Given the description of an element on the screen output the (x, y) to click on. 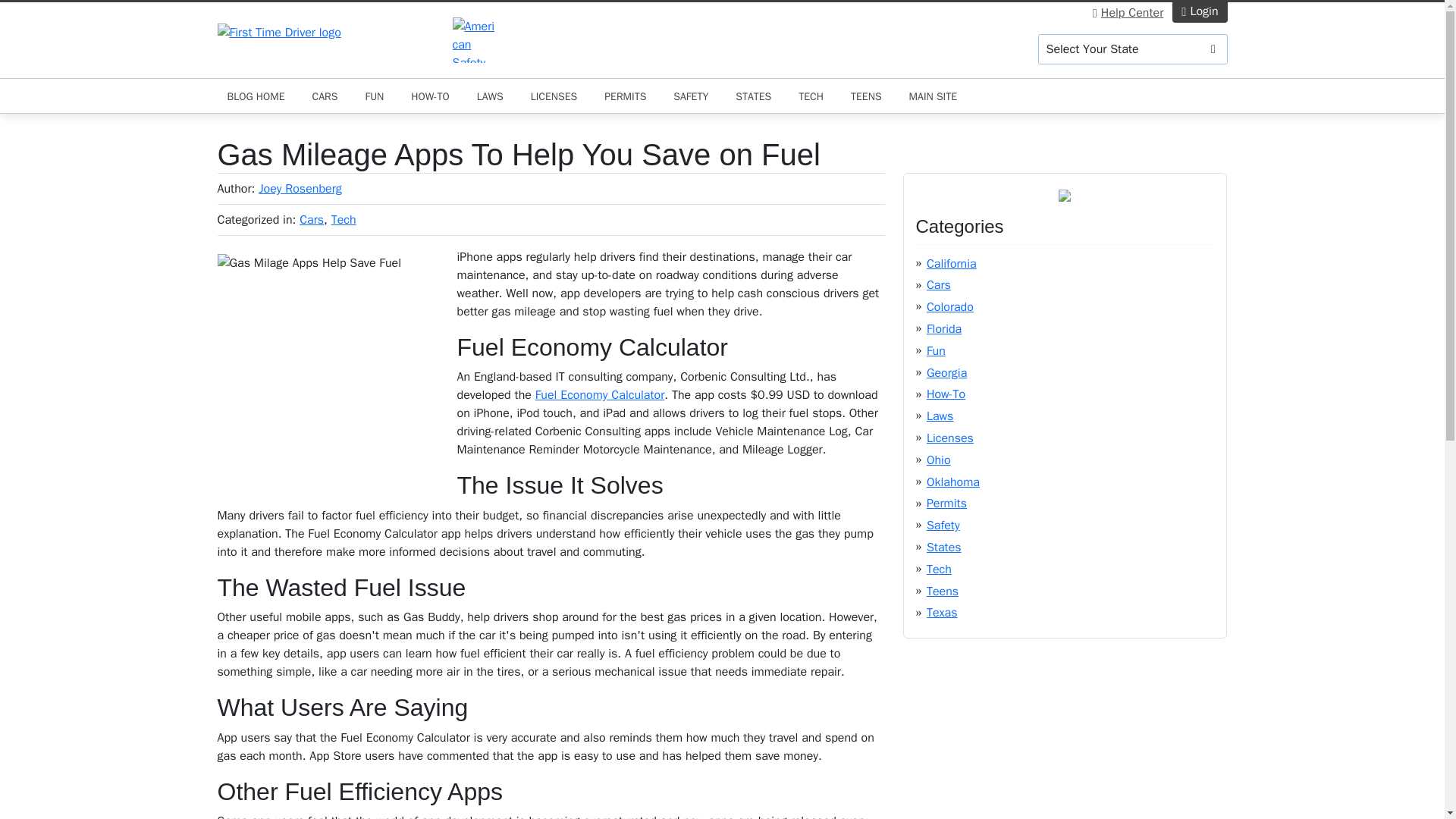
LICENSES (554, 95)
FUN (374, 95)
Fuel Economy Calculator (600, 394)
LAWS (490, 95)
SAFETY (690, 95)
TEENS (866, 95)
Login (1199, 12)
Cars (311, 219)
Tech (343, 219)
Joey Rosenberg (300, 188)
MAIN SITE (933, 95)
PERMITS (625, 95)
BLOG HOME (255, 95)
STATES (752, 95)
HOW-TO (429, 95)
